Given the description of an element on the screen output the (x, y) to click on. 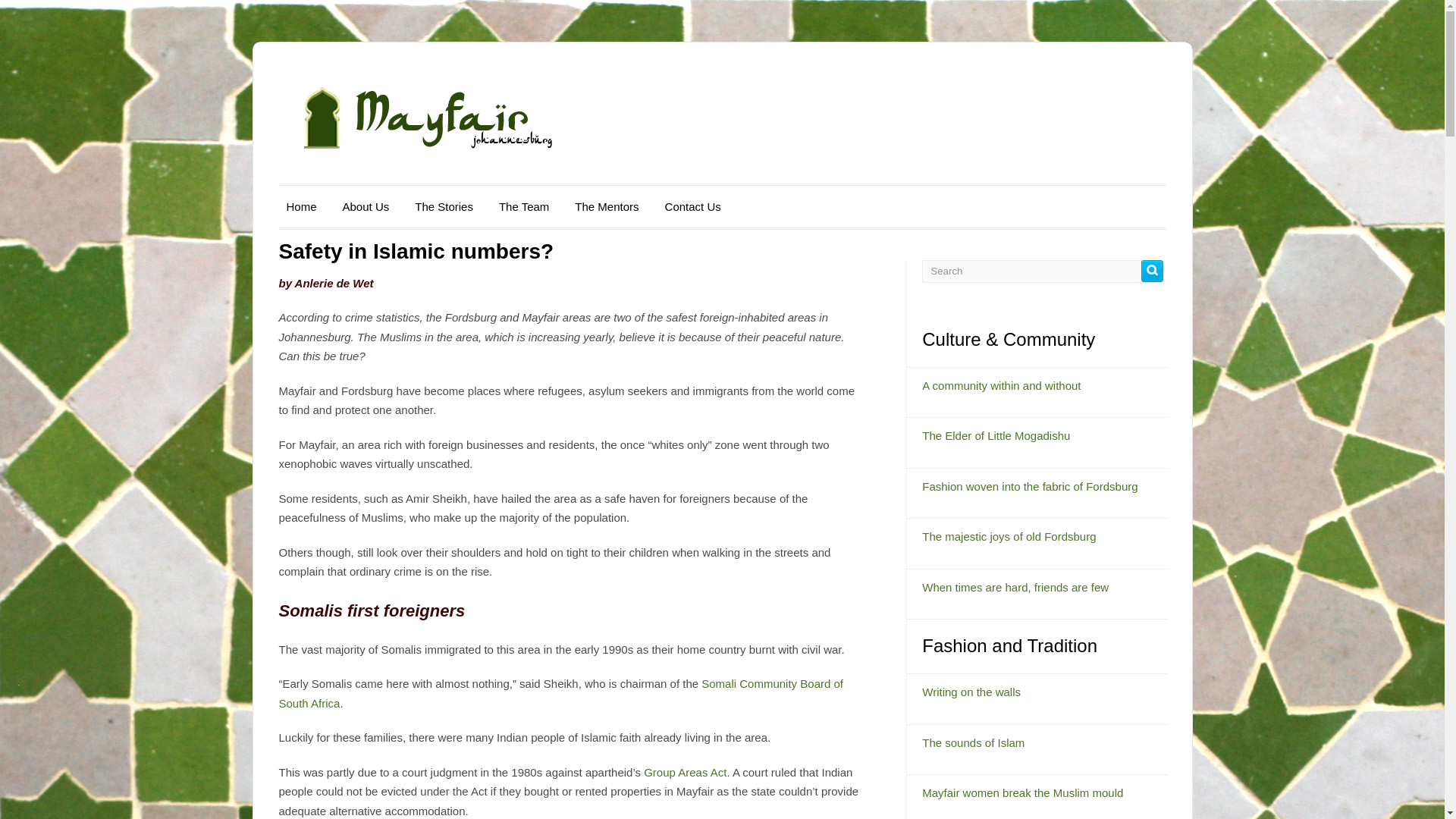
The Elder of Little Mogadishu (995, 435)
Mayfair women break the Muslim mould (1021, 792)
Writing on the walls (970, 691)
About Us (365, 206)
Home (301, 206)
Search (1152, 270)
The sounds of Islam (973, 742)
Somali Community Board of South Africa (561, 693)
The Mentors (606, 206)
Search (1031, 270)
